Given the description of an element on the screen output the (x, y) to click on. 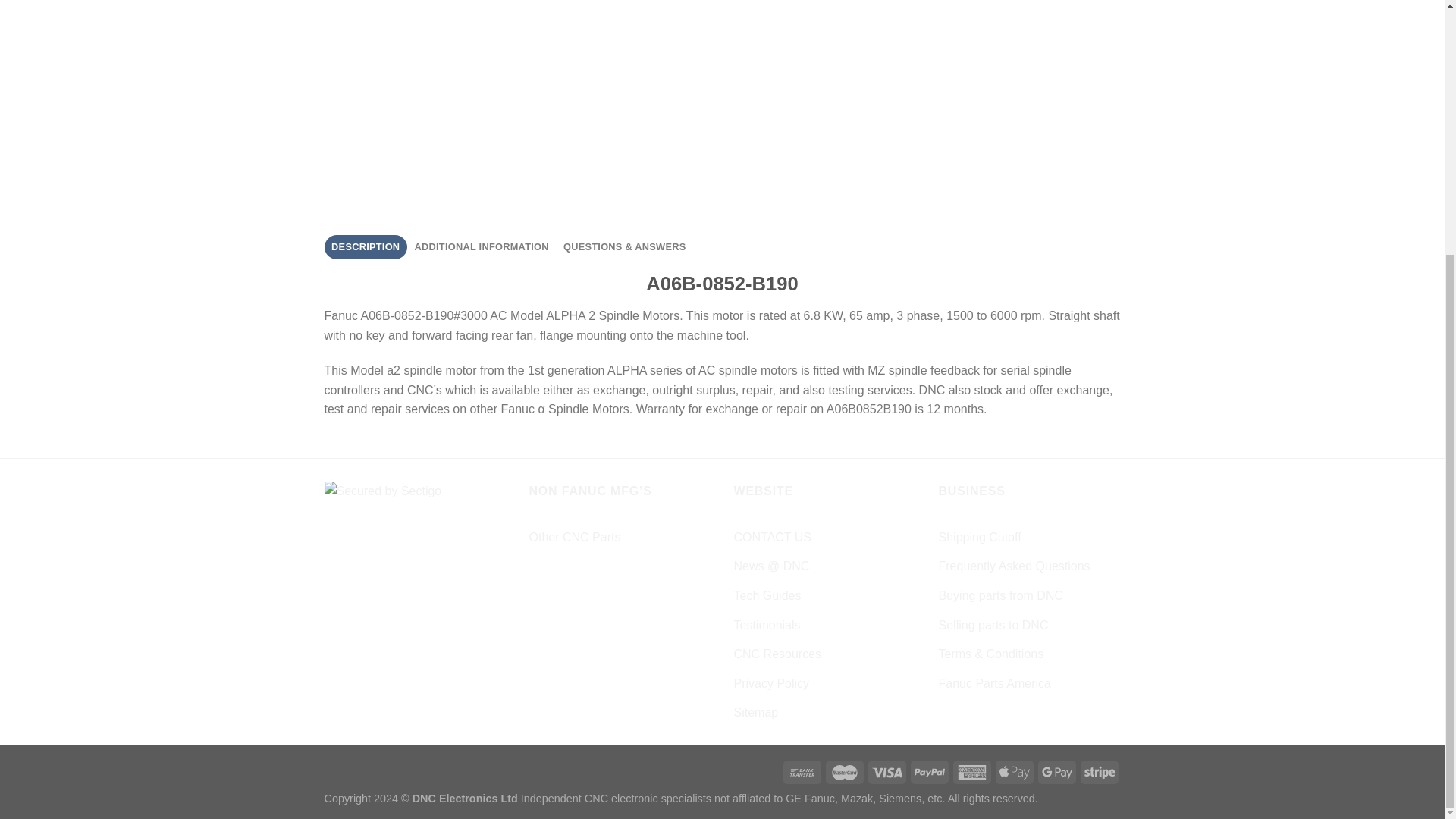
Tech Guides (767, 595)
CONTACT US (772, 537)
Testimonials (766, 624)
DESCRIPTION (365, 247)
CNC Resources (777, 654)
ADDITIONAL INFORMATION (481, 247)
Other CNC Parts (575, 537)
